Given the description of an element on the screen output the (x, y) to click on. 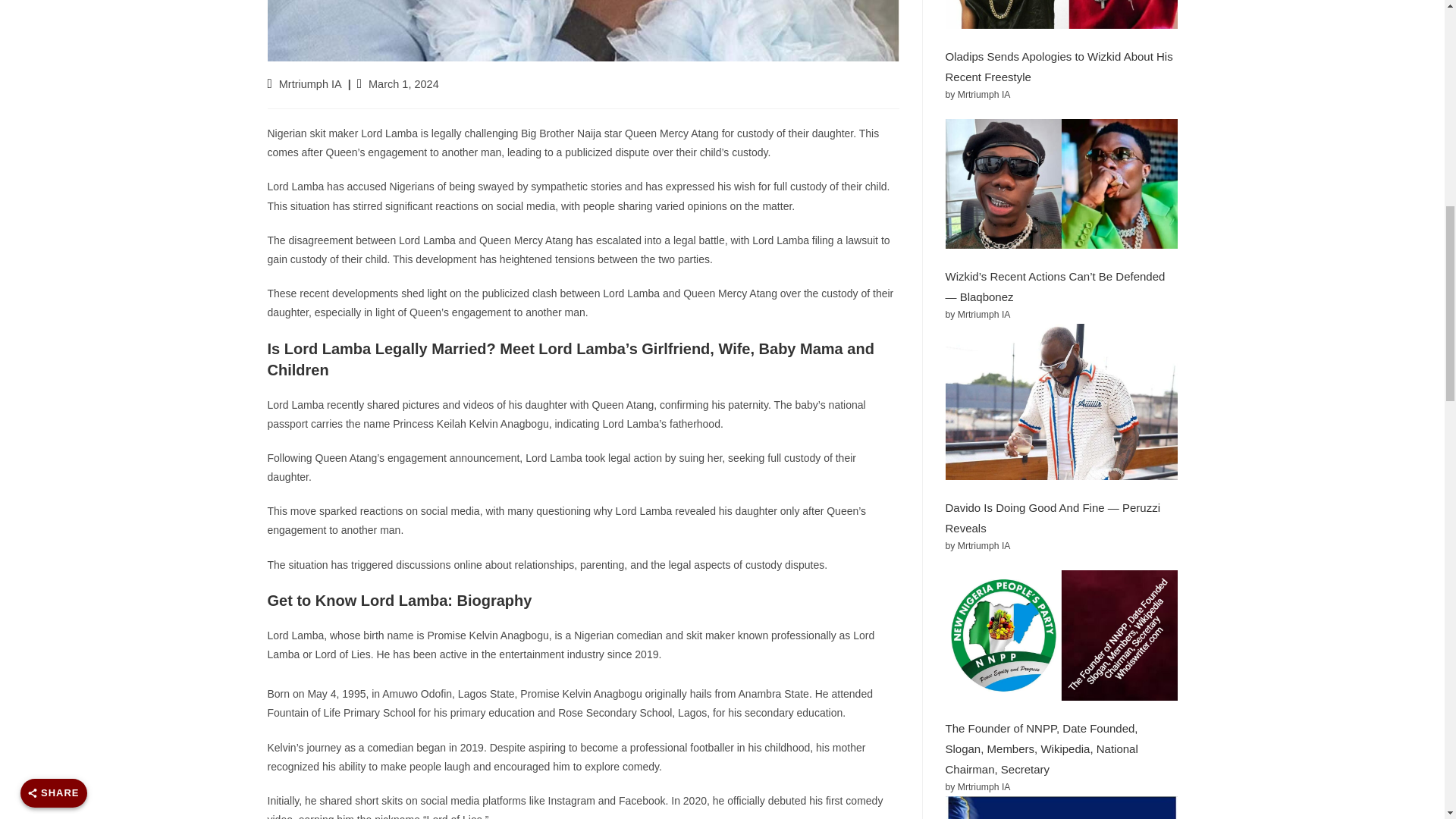
Mrtriumph IA (310, 83)
Posts by Mrtriumph IA (310, 83)
